Given the description of an element on the screen output the (x, y) to click on. 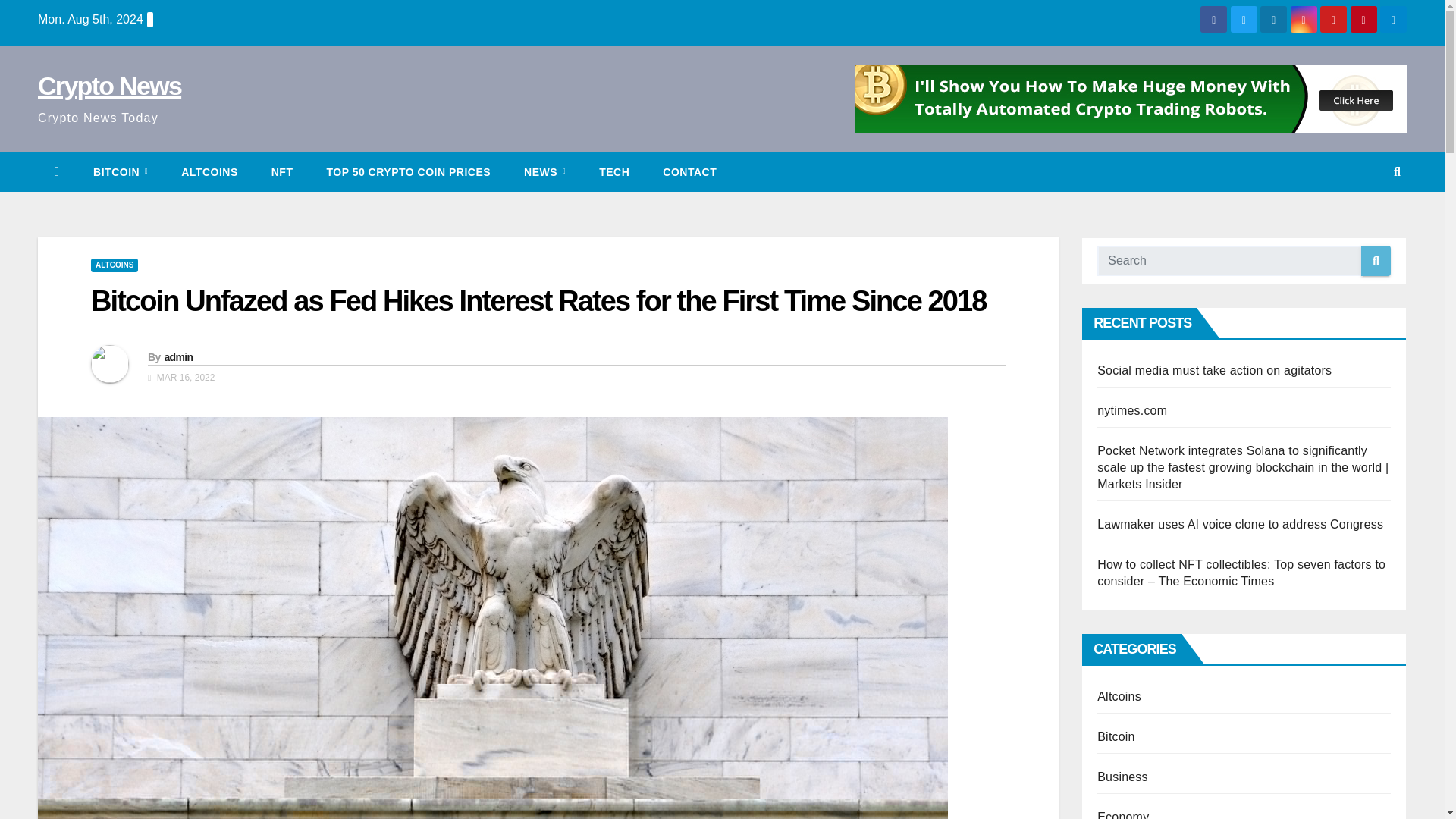
NFT (282, 171)
BITCOIN (120, 171)
Crypto News (108, 85)
NEWS (544, 171)
Top 50 Crypto Coin Prices (407, 171)
CONTACT (689, 171)
ALTCOINS (114, 264)
Tech (614, 171)
Altcoins (209, 171)
admin (177, 357)
ALTCOINS (209, 171)
Bitcoin (120, 171)
News (544, 171)
